Given the description of an element on the screen output the (x, y) to click on. 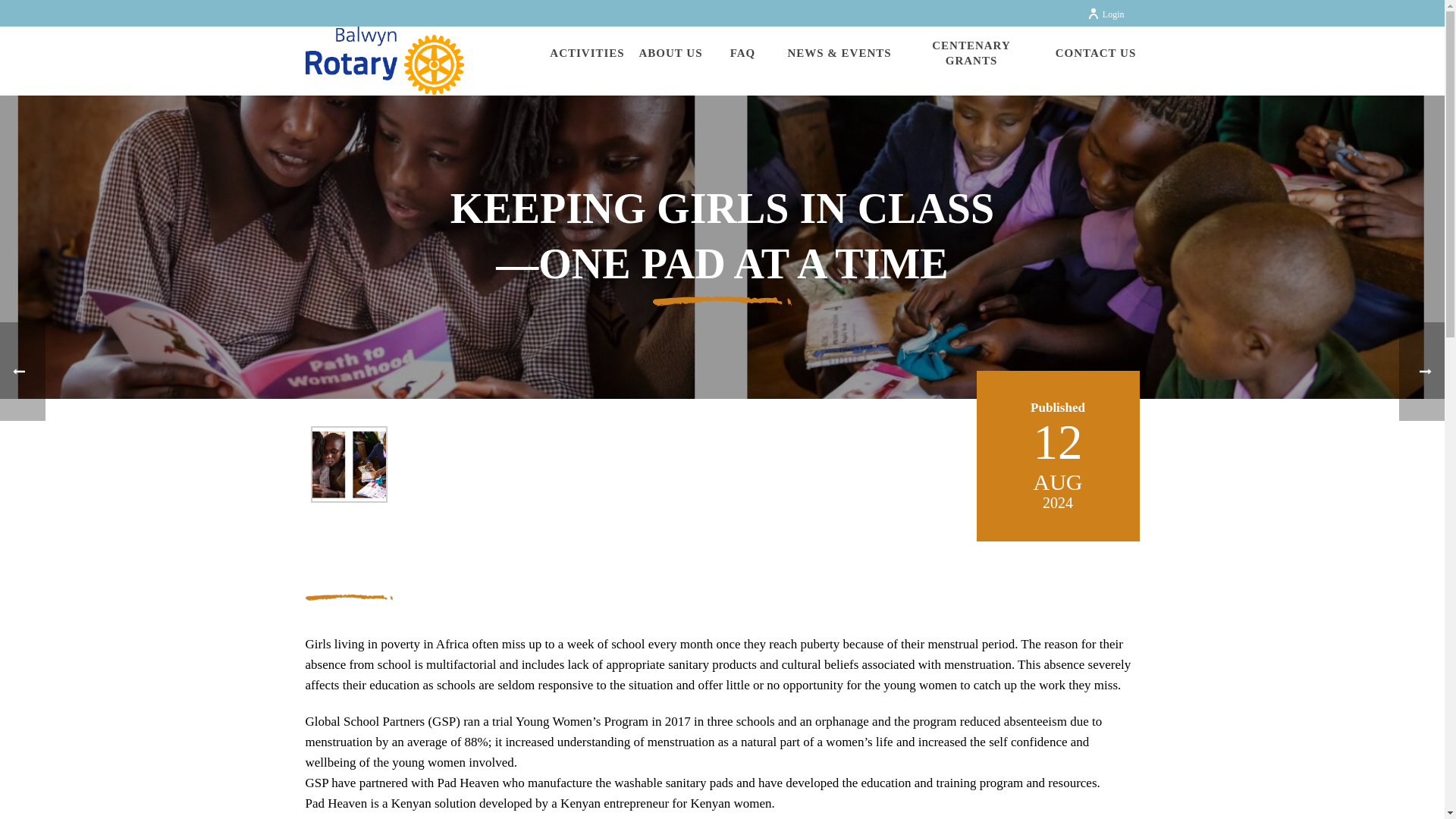
ABOUT US (670, 55)
CONTACT US (1095, 55)
ACTIVITIES (587, 55)
CONTACT US (1095, 55)
FAQ (743, 55)
Login (1105, 14)
CENTENARY GRANTS (970, 54)
FAQ (743, 55)
ABOUT US (670, 55)
CENTENARY GRANTS (970, 54)
